Given the description of an element on the screen output the (x, y) to click on. 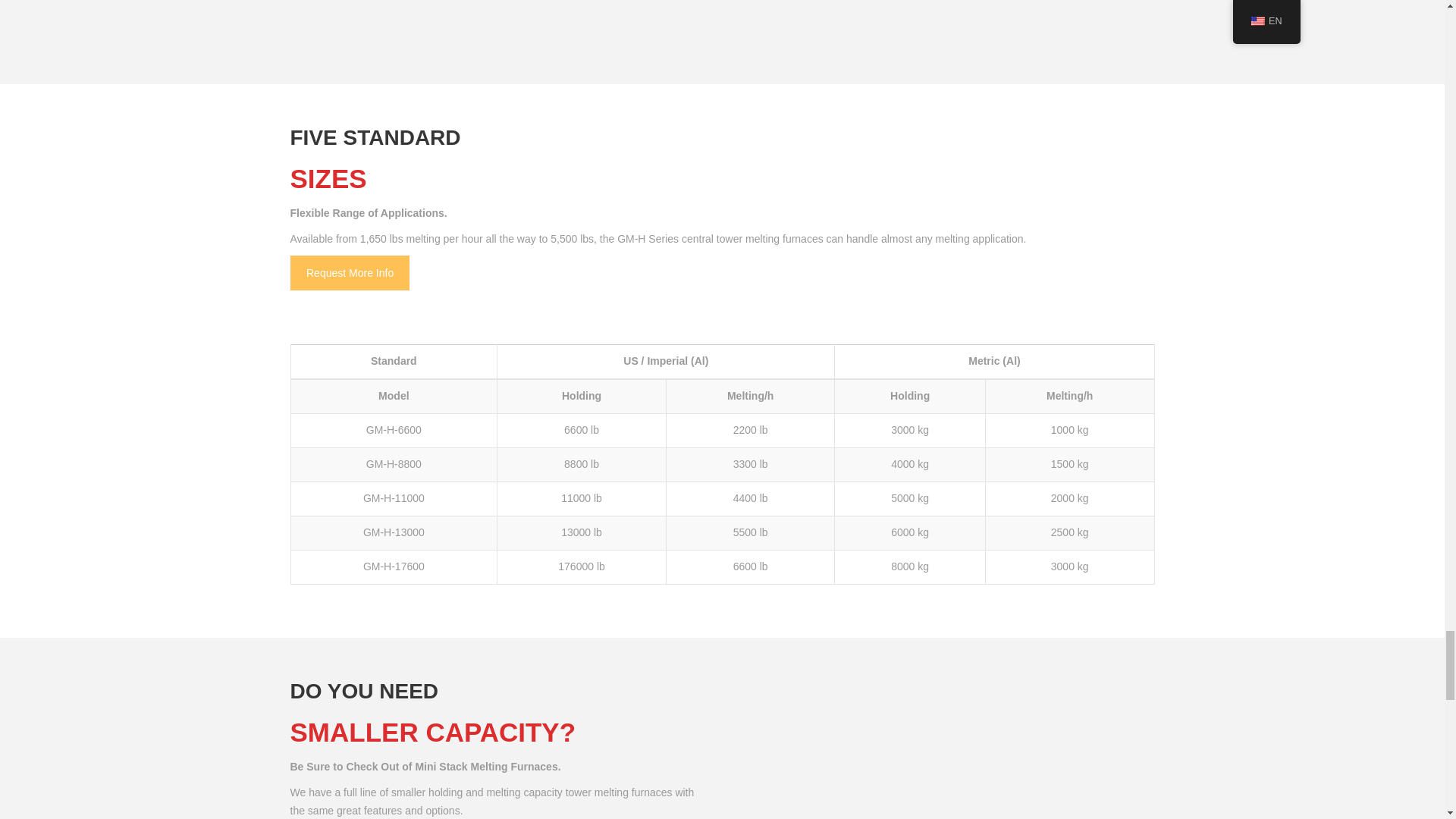
Request More Info (349, 272)
